Given the description of an element on the screen output the (x, y) to click on. 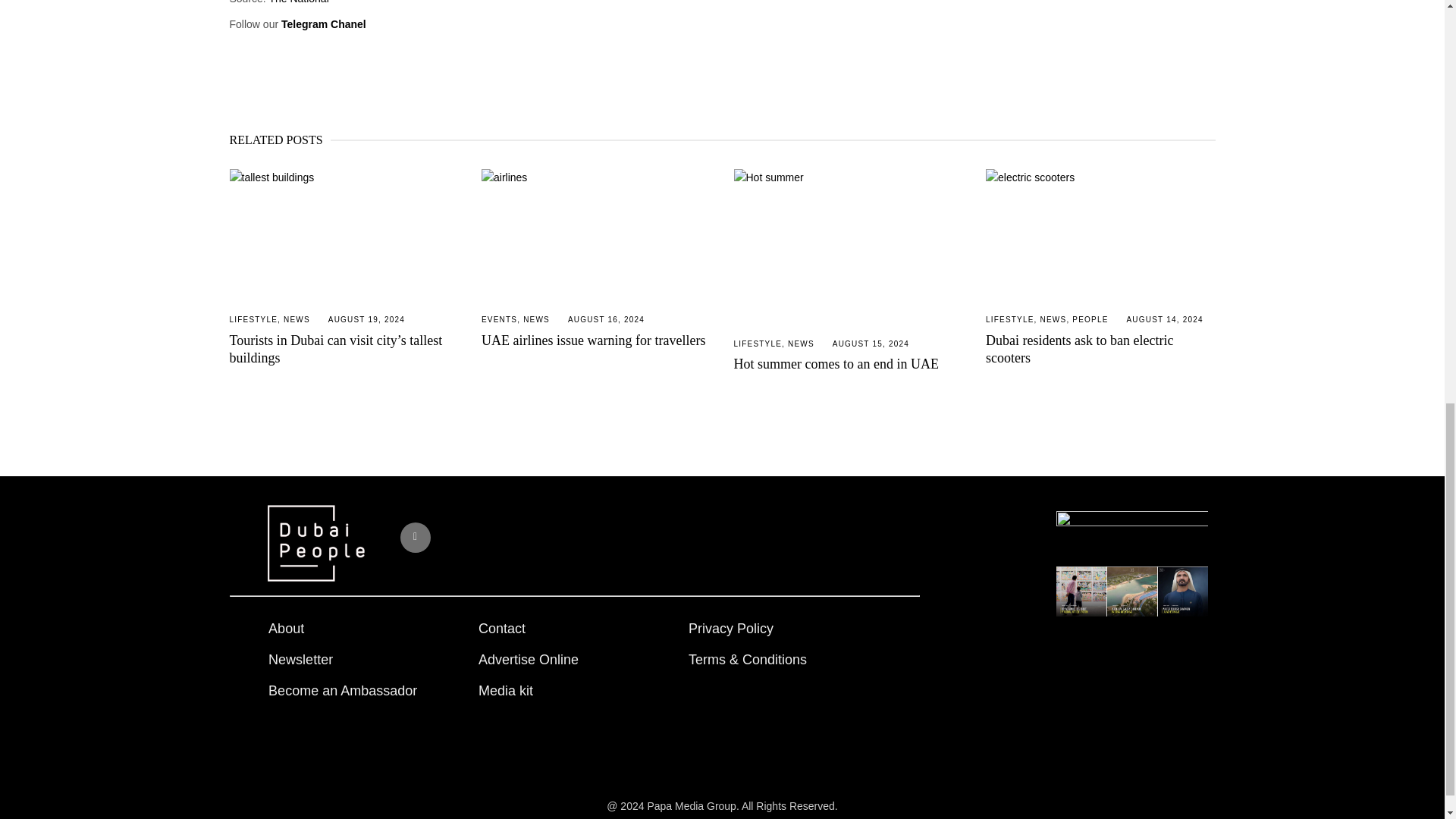
Hot summer comes to an end in UAE (848, 245)
UAE airlines issue warning for travellers (592, 340)
UAE airlines issue warning for travellers (596, 233)
Instagram (415, 537)
Telegram Chanel (323, 24)
Hot summer comes to an end in UAE (836, 363)
The National (298, 2)
Dubai residents ask to ban electric scooters (1100, 233)
Dubai residents ask to ban electric scooters (1079, 348)
